Given the description of an element on the screen output the (x, y) to click on. 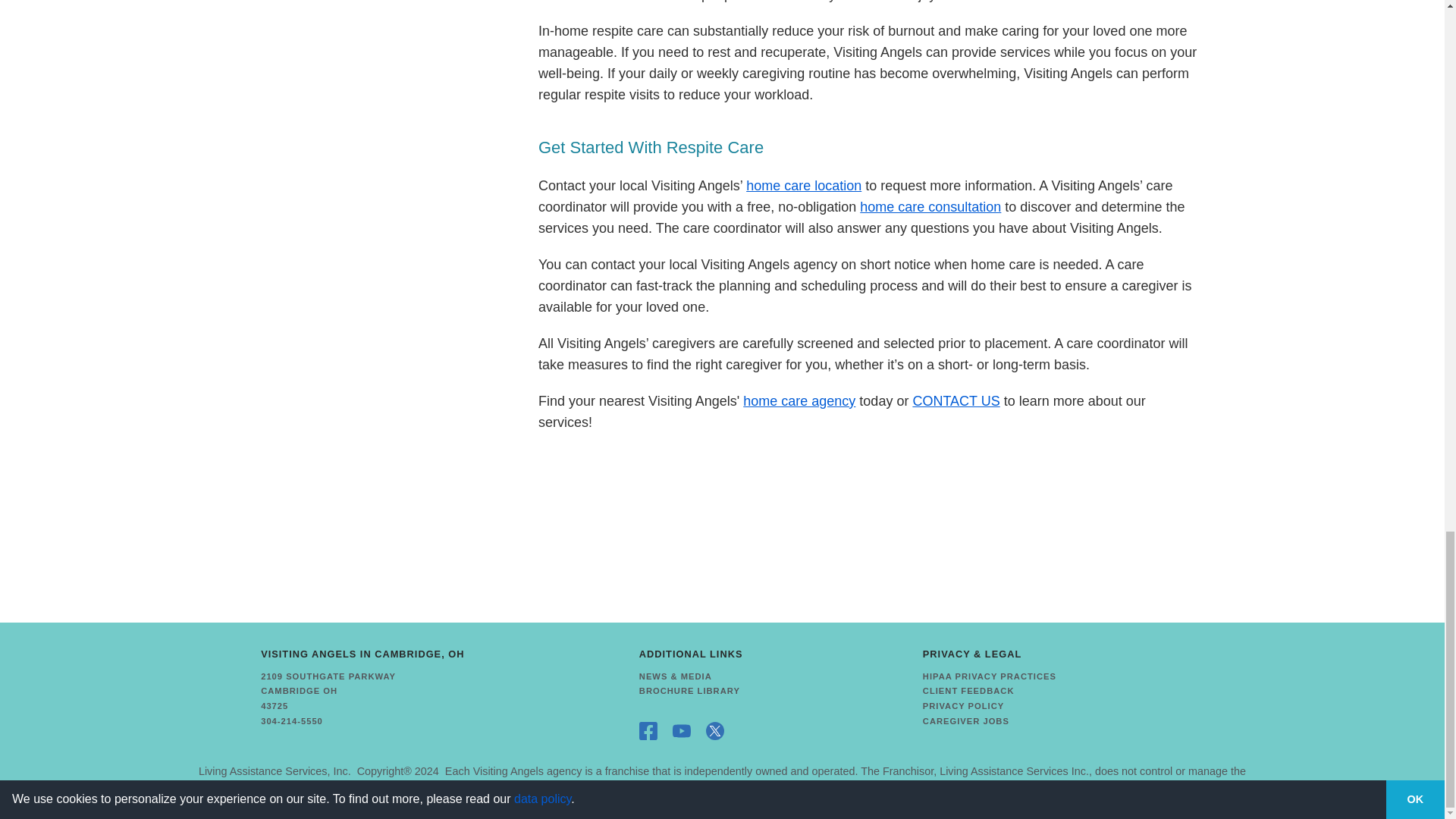
senior home care franchise opportunities (274, 770)
